Given the description of an element on the screen output the (x, y) to click on. 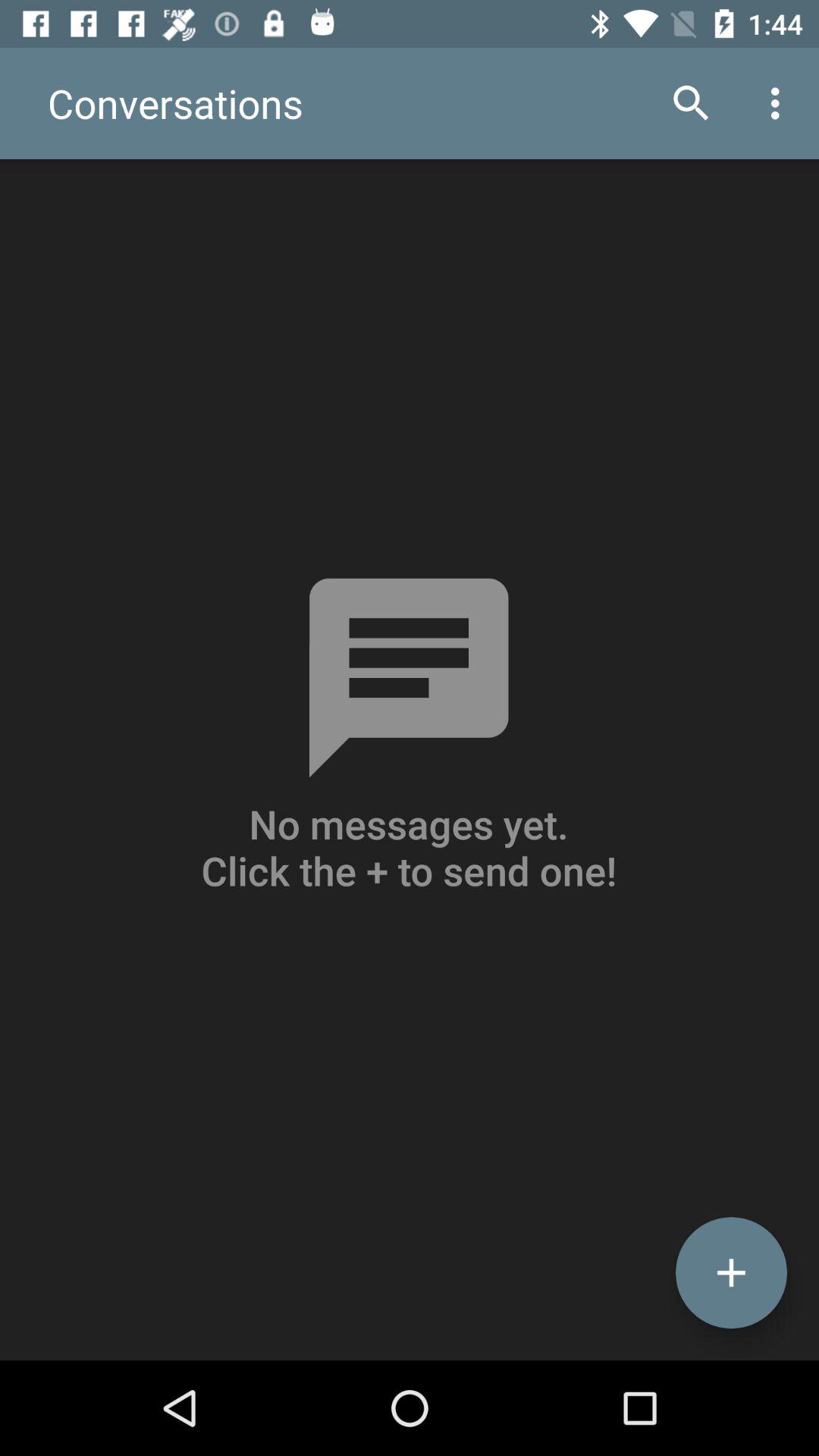
go to add contacts (731, 1272)
